Given the description of an element on the screen output the (x, y) to click on. 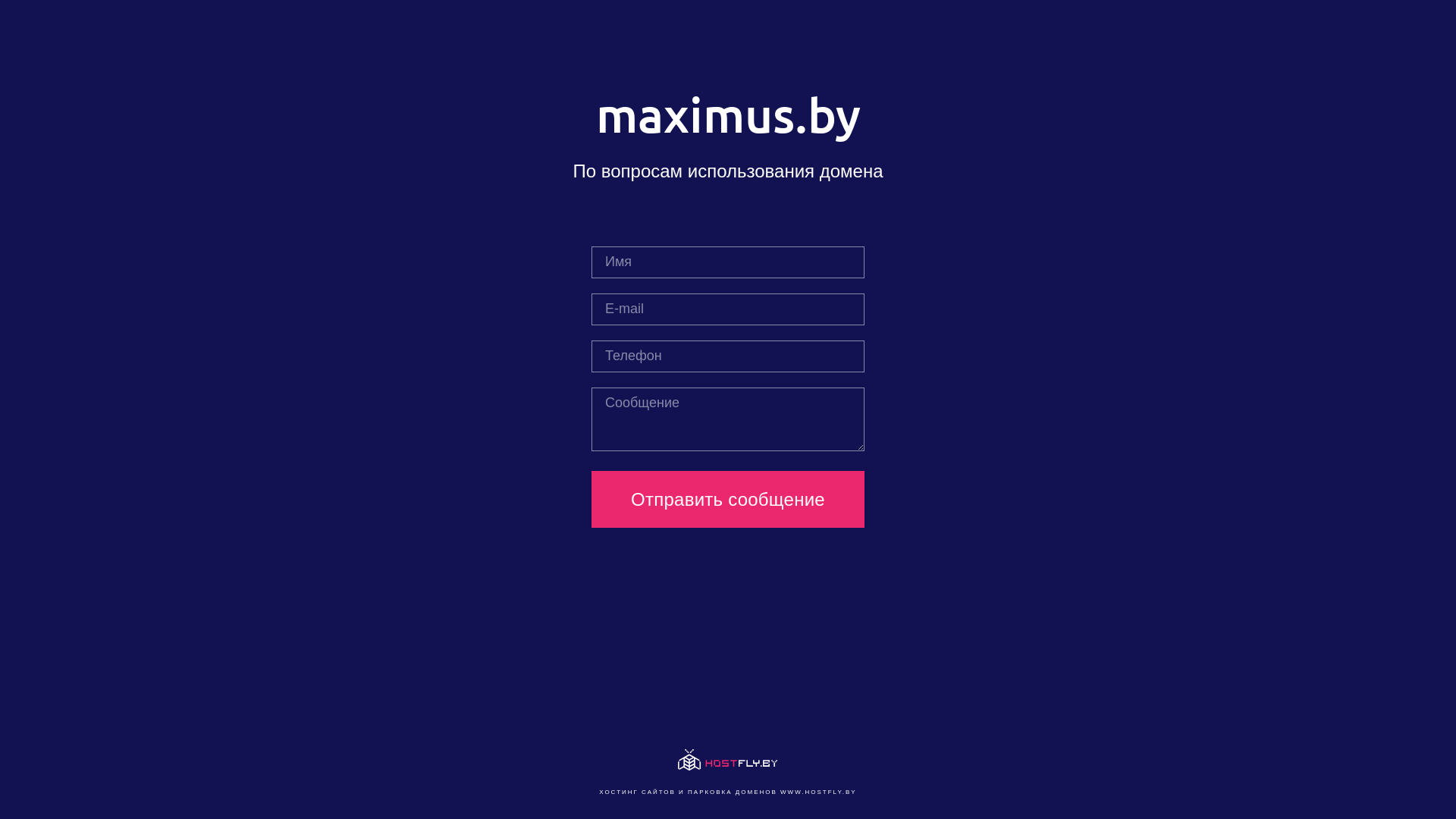
WWW.HOSTFLY.BY Element type: text (818, 791)
